Given the description of an element on the screen output the (x, y) to click on. 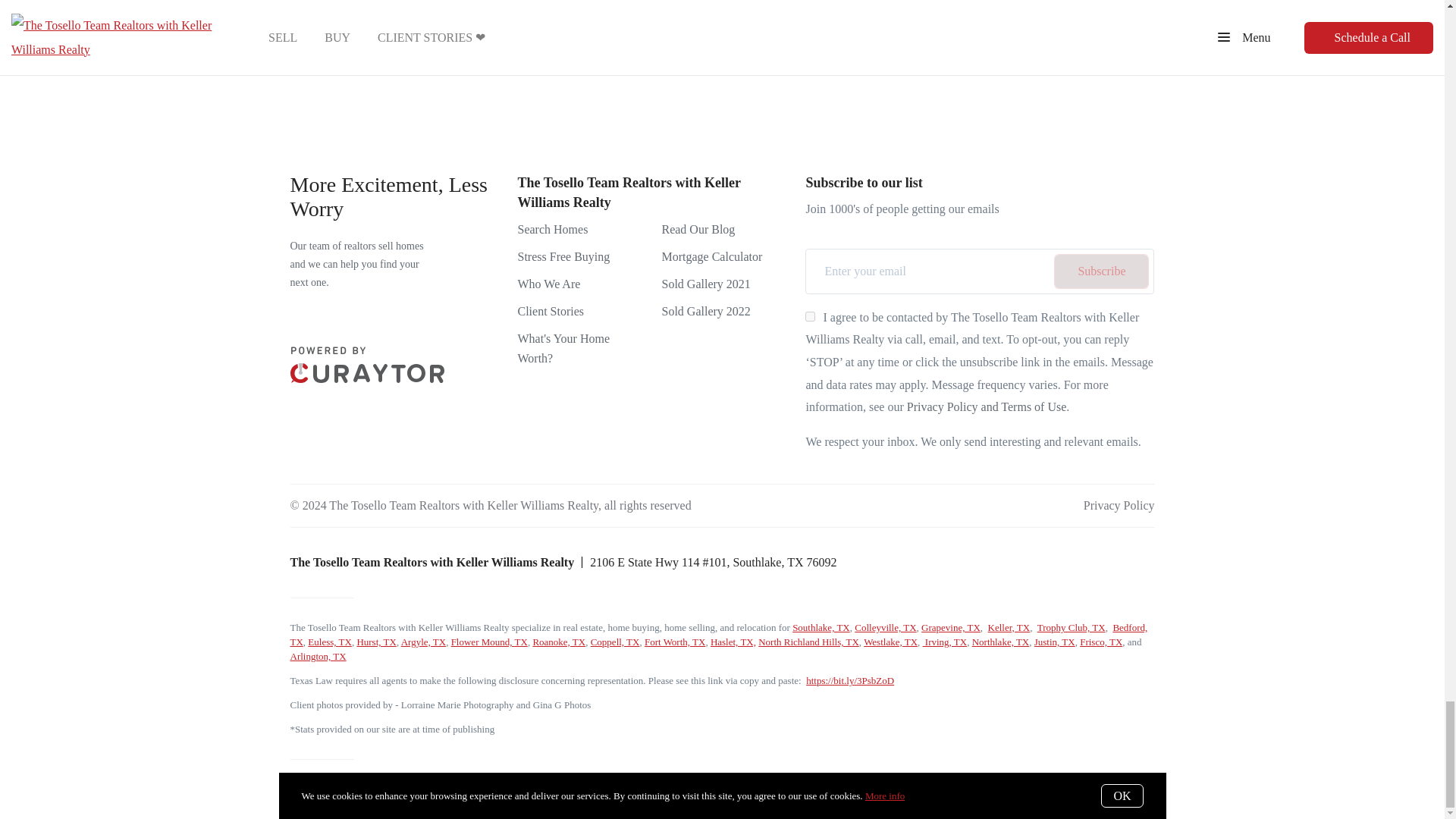
curaytor-horizontal (366, 364)
on (810, 316)
